Given the description of an element on the screen output the (x, y) to click on. 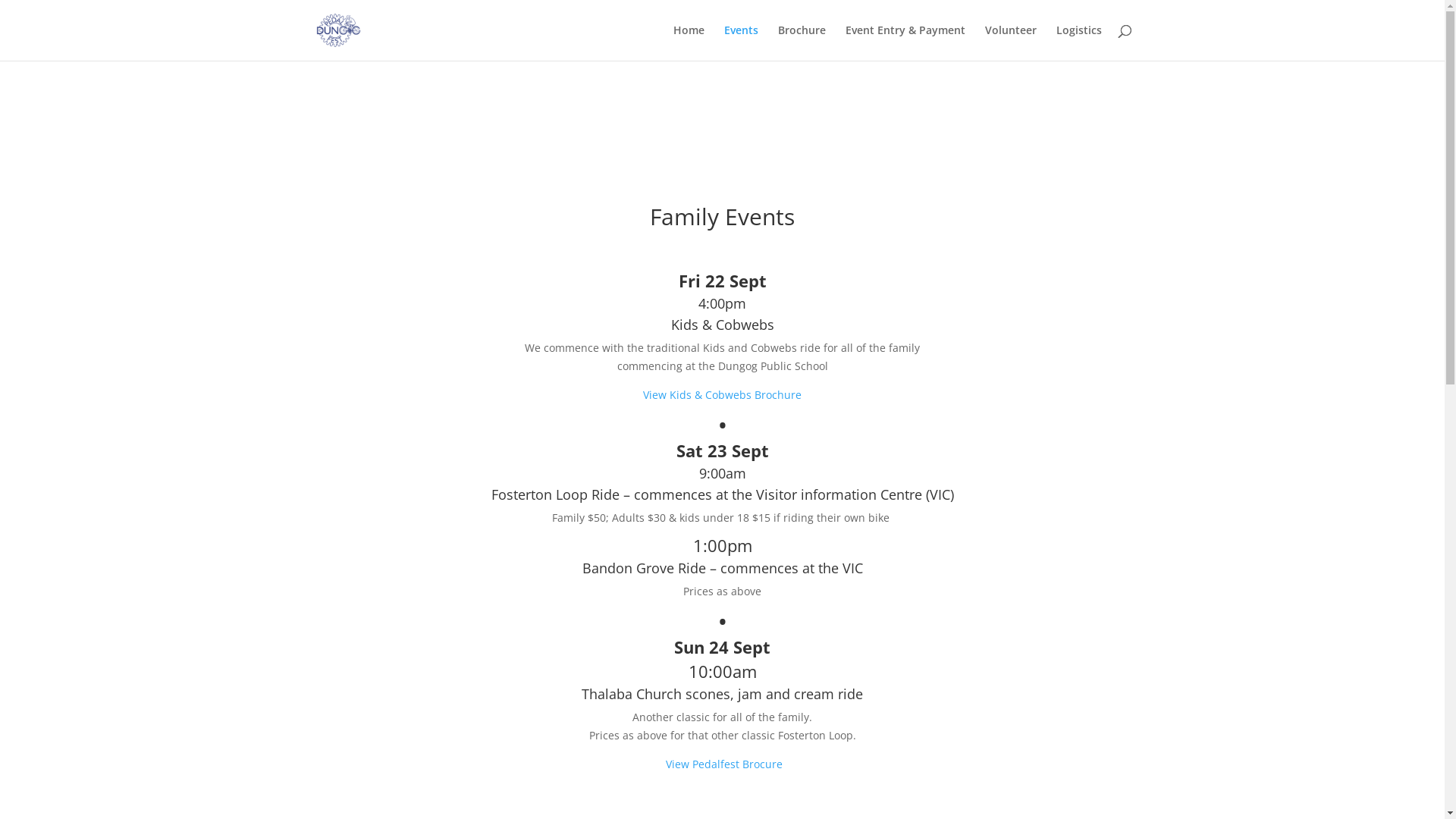
Brochure Element type: text (801, 42)
View Pedalfest Brocure Element type: text (723, 763)
Volunteer Element type: text (1009, 42)
Home Element type: text (688, 42)
Logistics Element type: text (1078, 42)
Events Element type: text (740, 42)
Event Entry & Payment Element type: text (904, 42)
View Kids & Cobwebs Brochure Element type: text (722, 394)
